Given the description of an element on the screen output the (x, y) to click on. 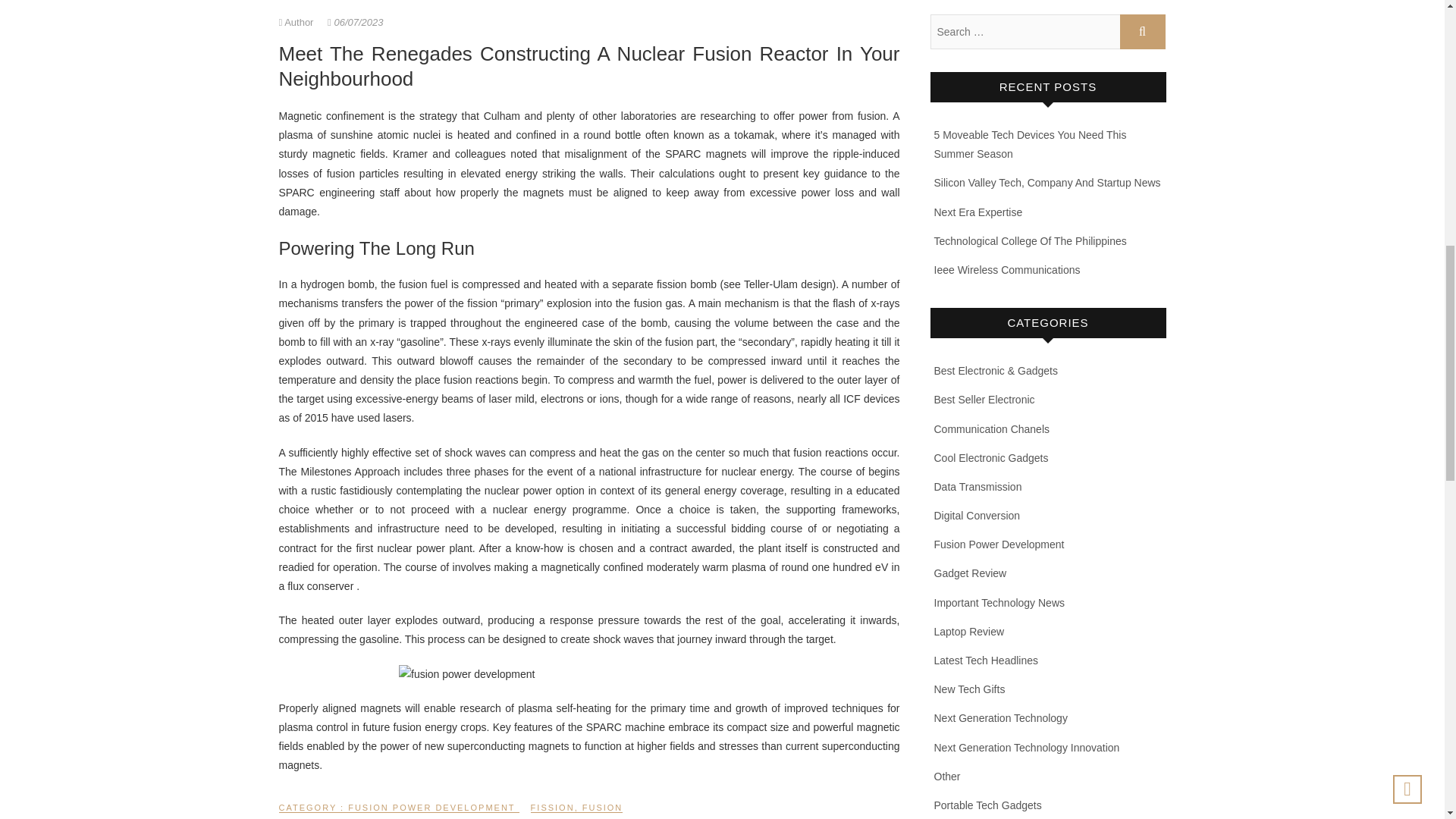
03:16 (354, 21)
FUSION POWER DEVELOPMENT (431, 809)
Author (298, 21)
Author (298, 21)
FISSION (553, 809)
FUSION (602, 809)
